Given the description of an element on the screen output the (x, y) to click on. 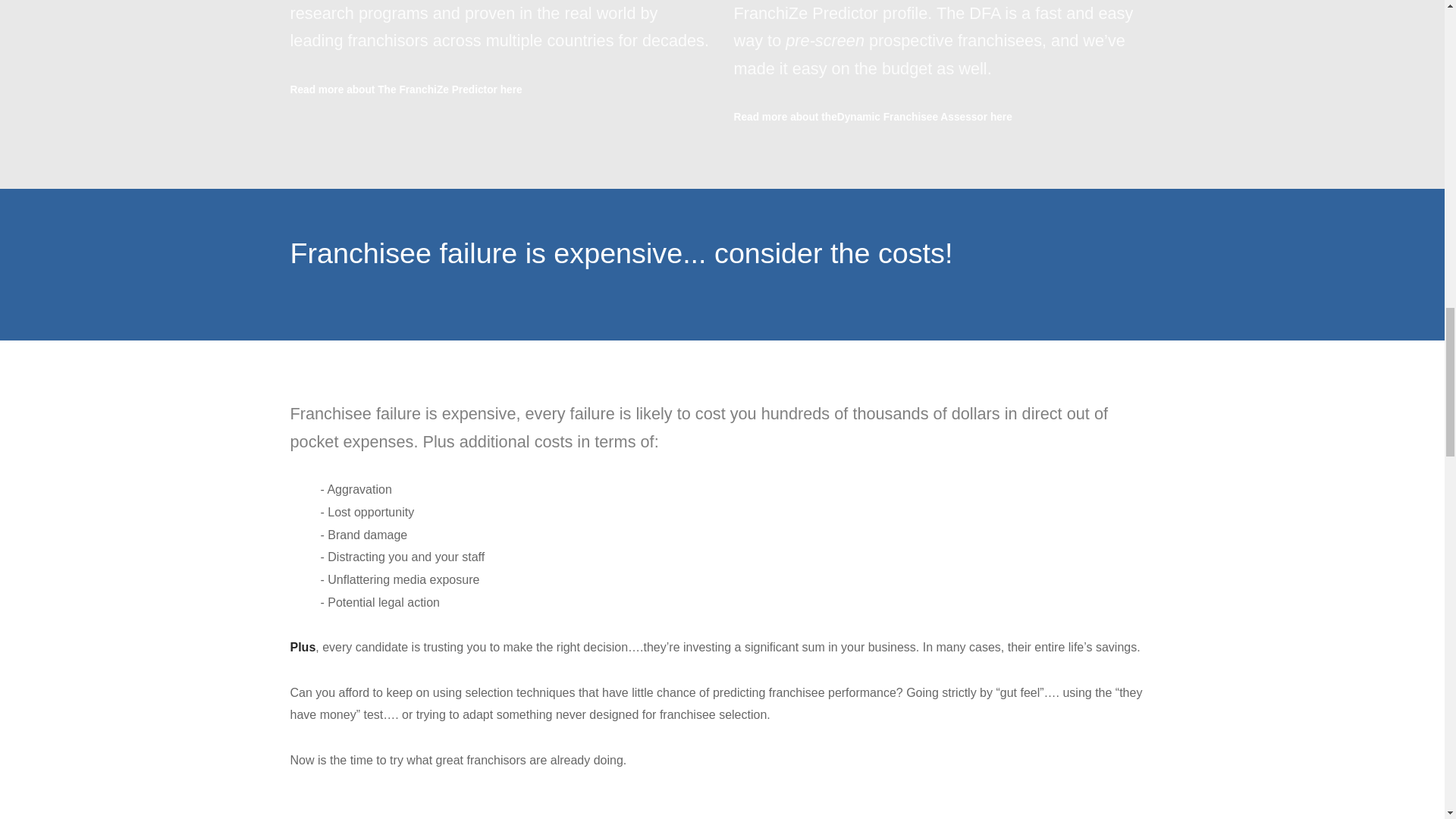
Read more about theDynamic Franchisee Assessor here (872, 116)
Read more about The FranchiZe Predictor here (405, 89)
